Given the description of an element on the screen output the (x, y) to click on. 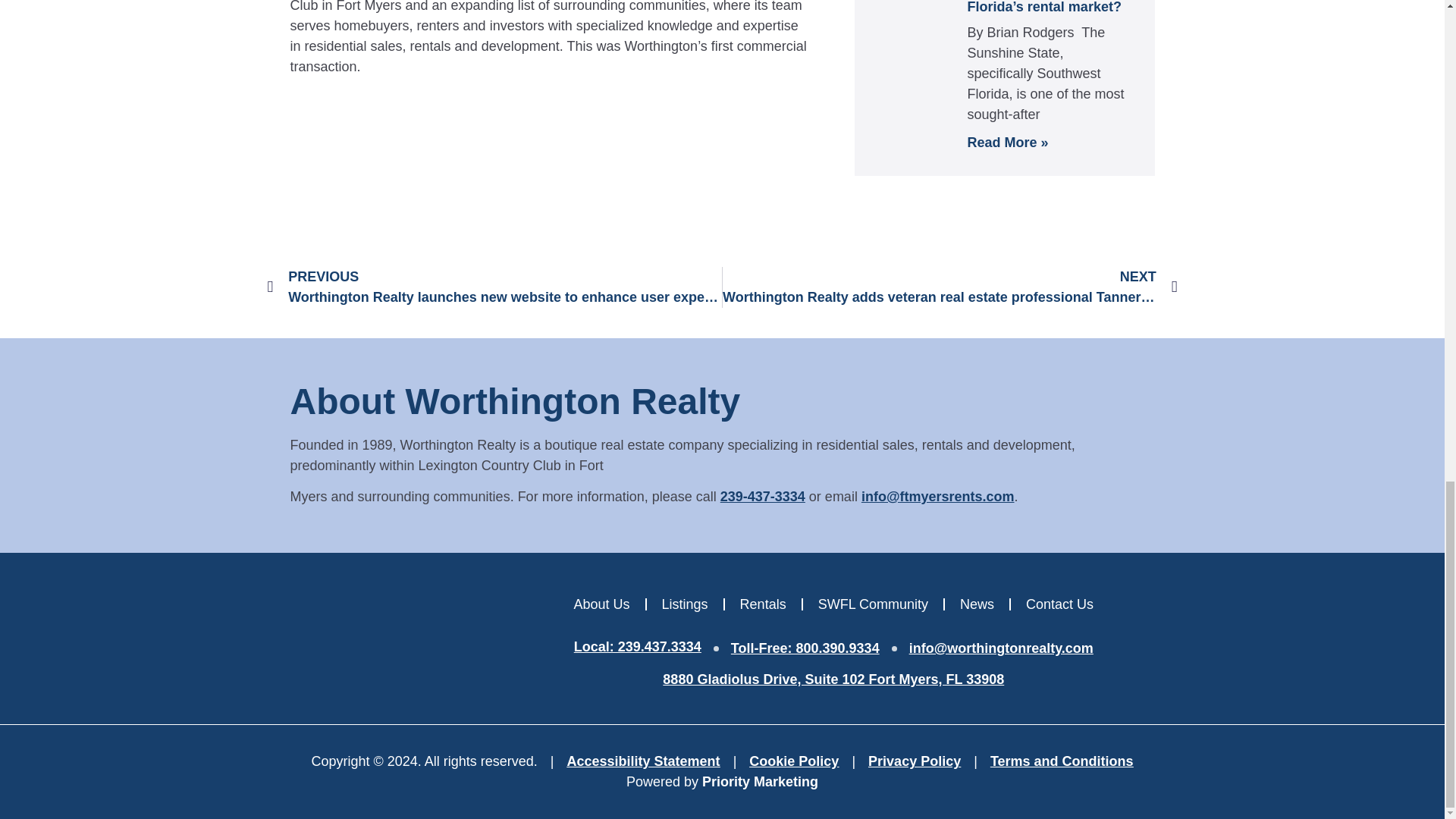
239-437-3334 (762, 496)
